Given the description of an element on the screen output the (x, y) to click on. 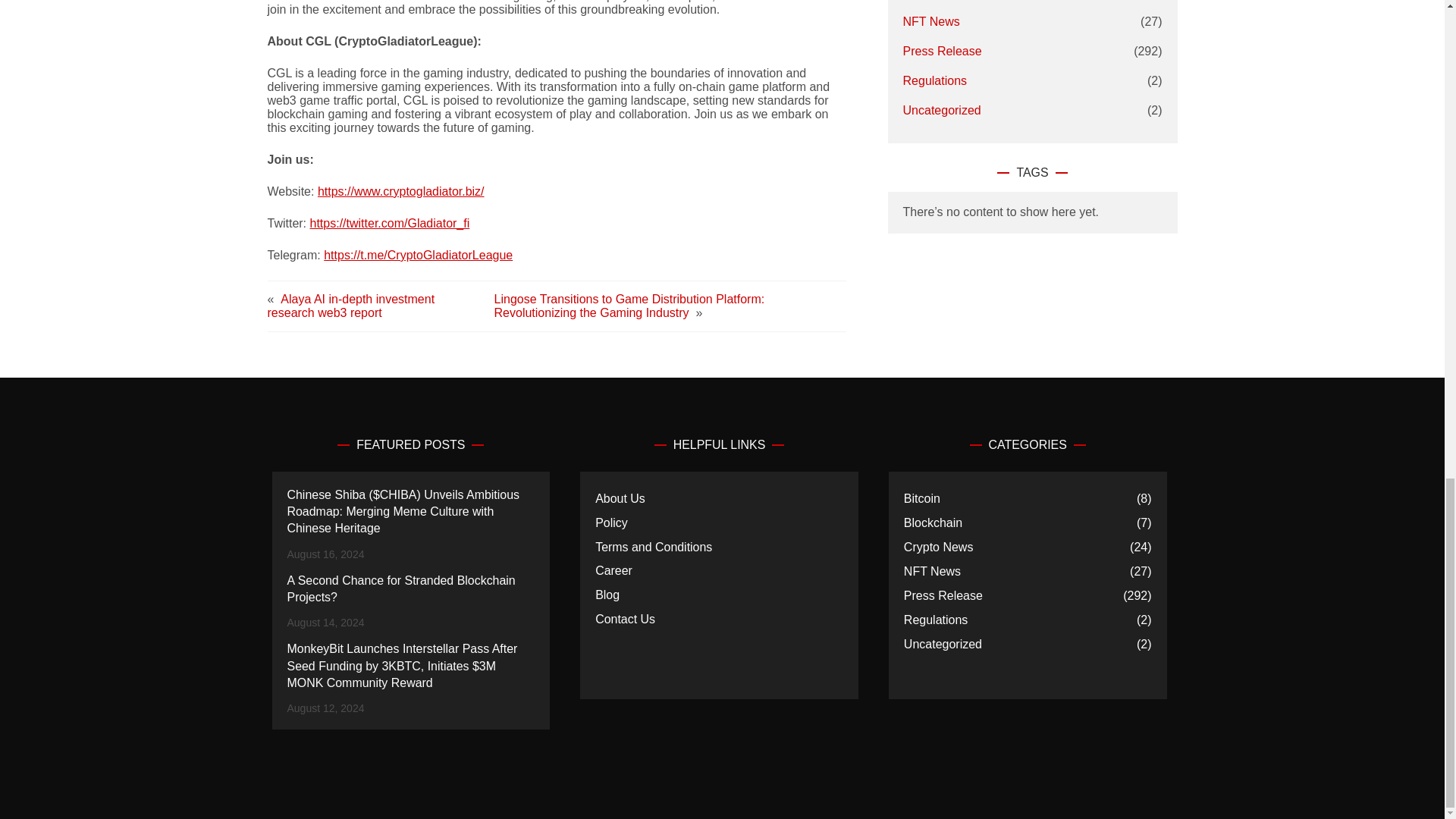
NFT News (930, 21)
Bitcoin (922, 498)
Alaya AI in-depth investment research web3 report (349, 305)
Uncategorized (941, 110)
Policy (611, 522)
Uncategorized (942, 644)
NFT News (932, 571)
Regulations (935, 80)
Career (613, 570)
Blockchain (933, 523)
